Given the description of an element on the screen output the (x, y) to click on. 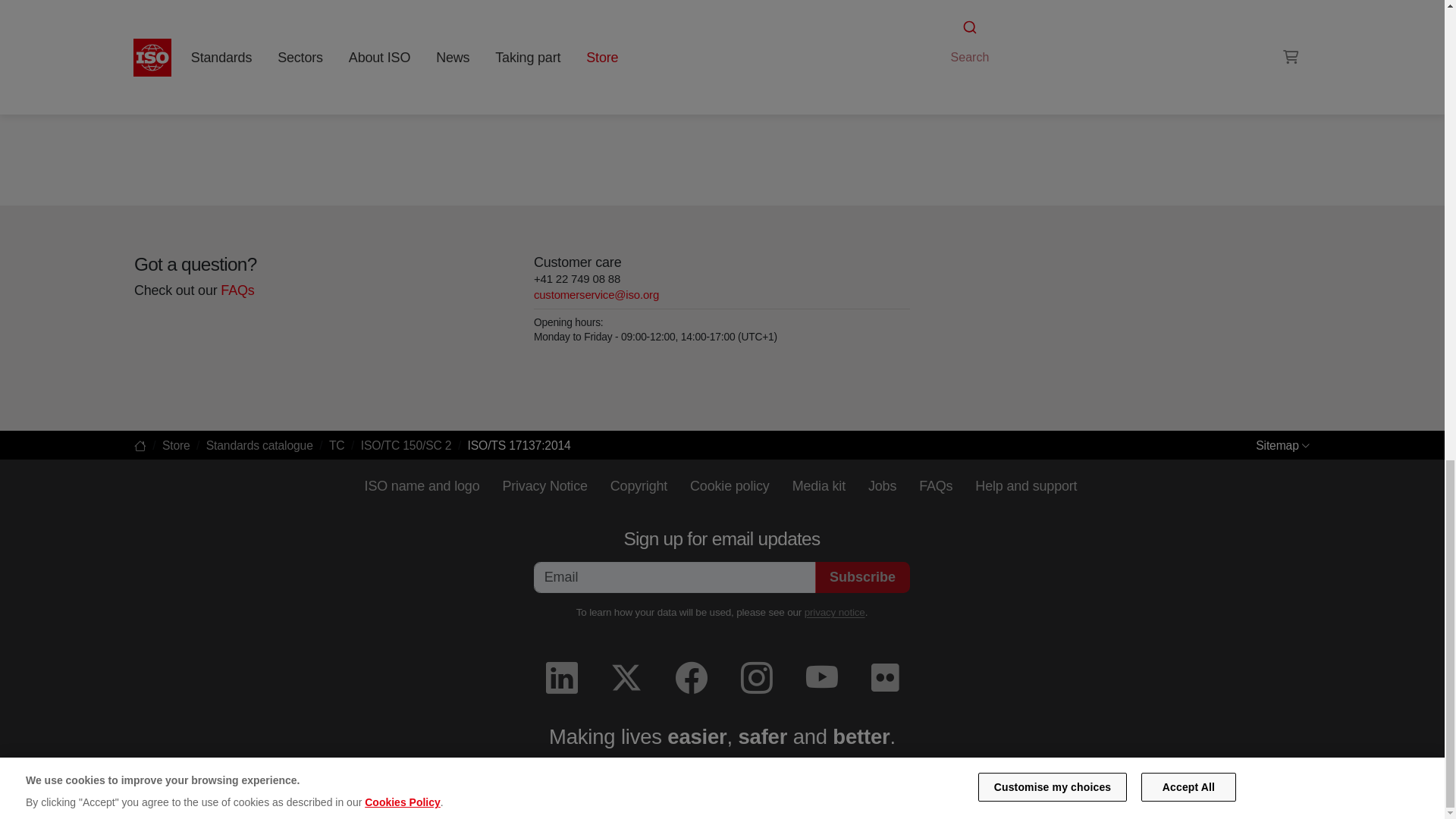
Stage: 95.99 (185, 85)
